Given the description of an element on the screen output the (x, y) to click on. 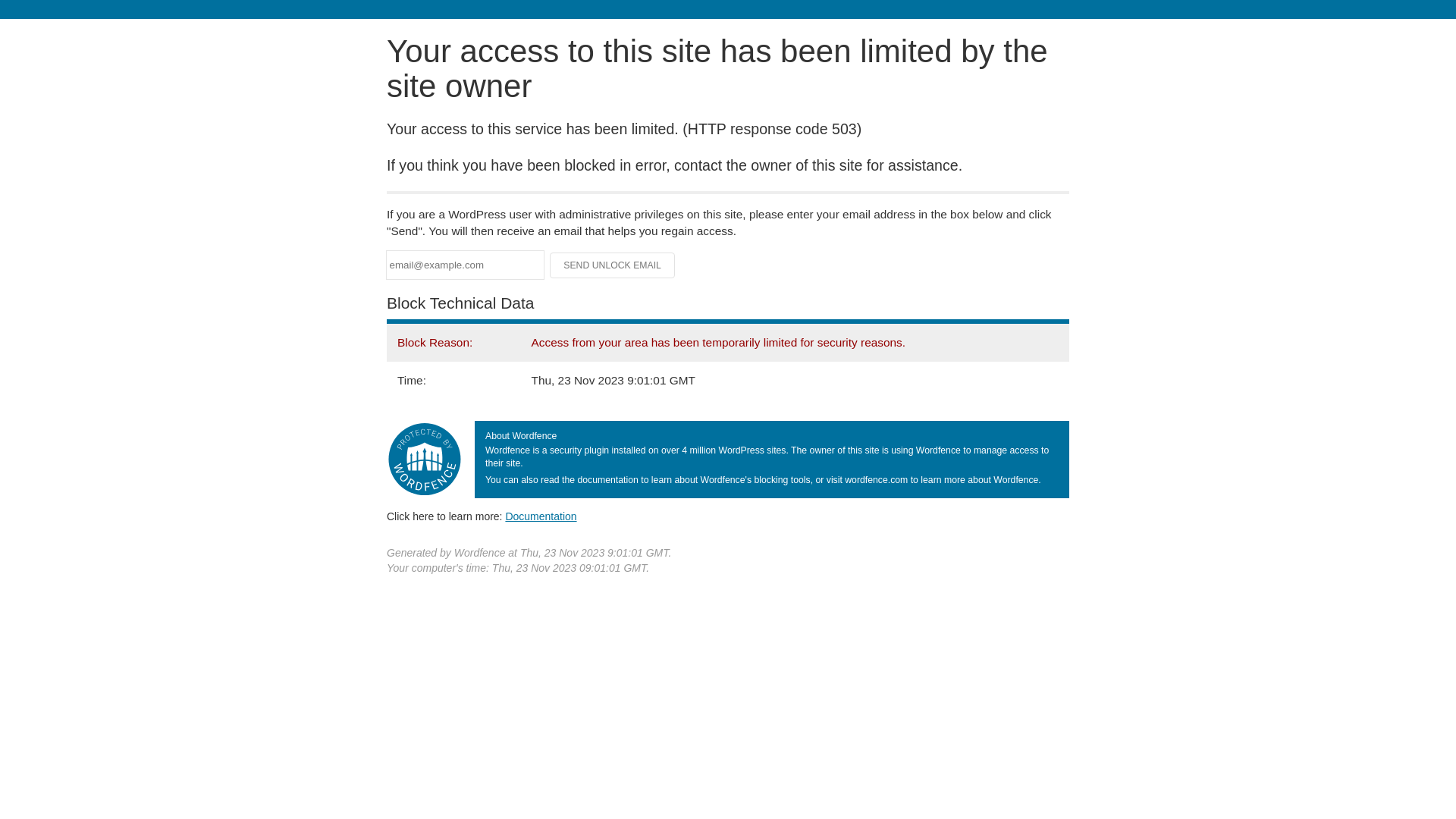
Send Unlock Email Element type: text (612, 265)
Documentation Element type: text (540, 516)
